Given the description of an element on the screen output the (x, y) to click on. 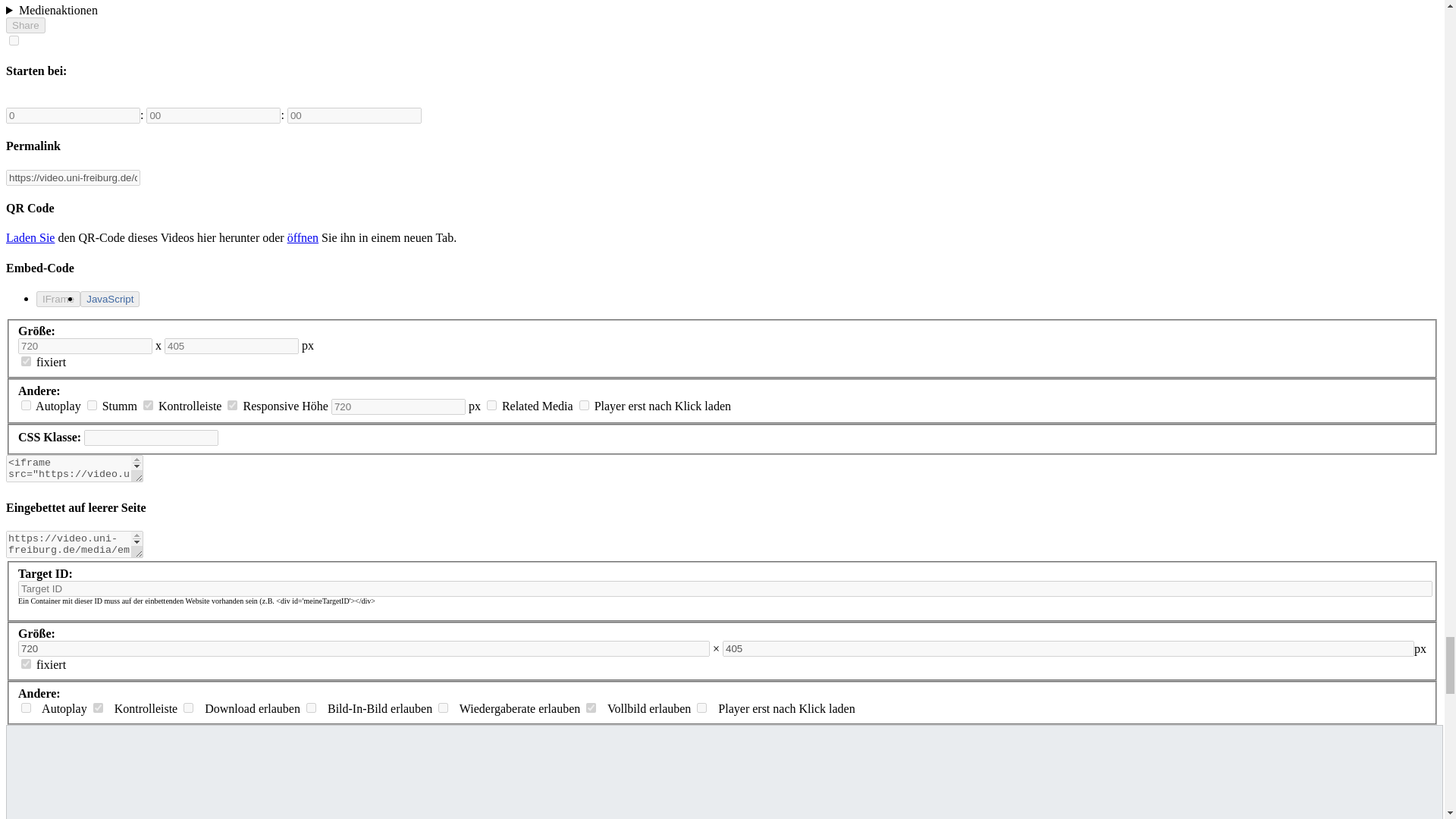
1 (232, 405)
1 (147, 405)
1 (25, 361)
